Given the description of an element on the screen output the (x, y) to click on. 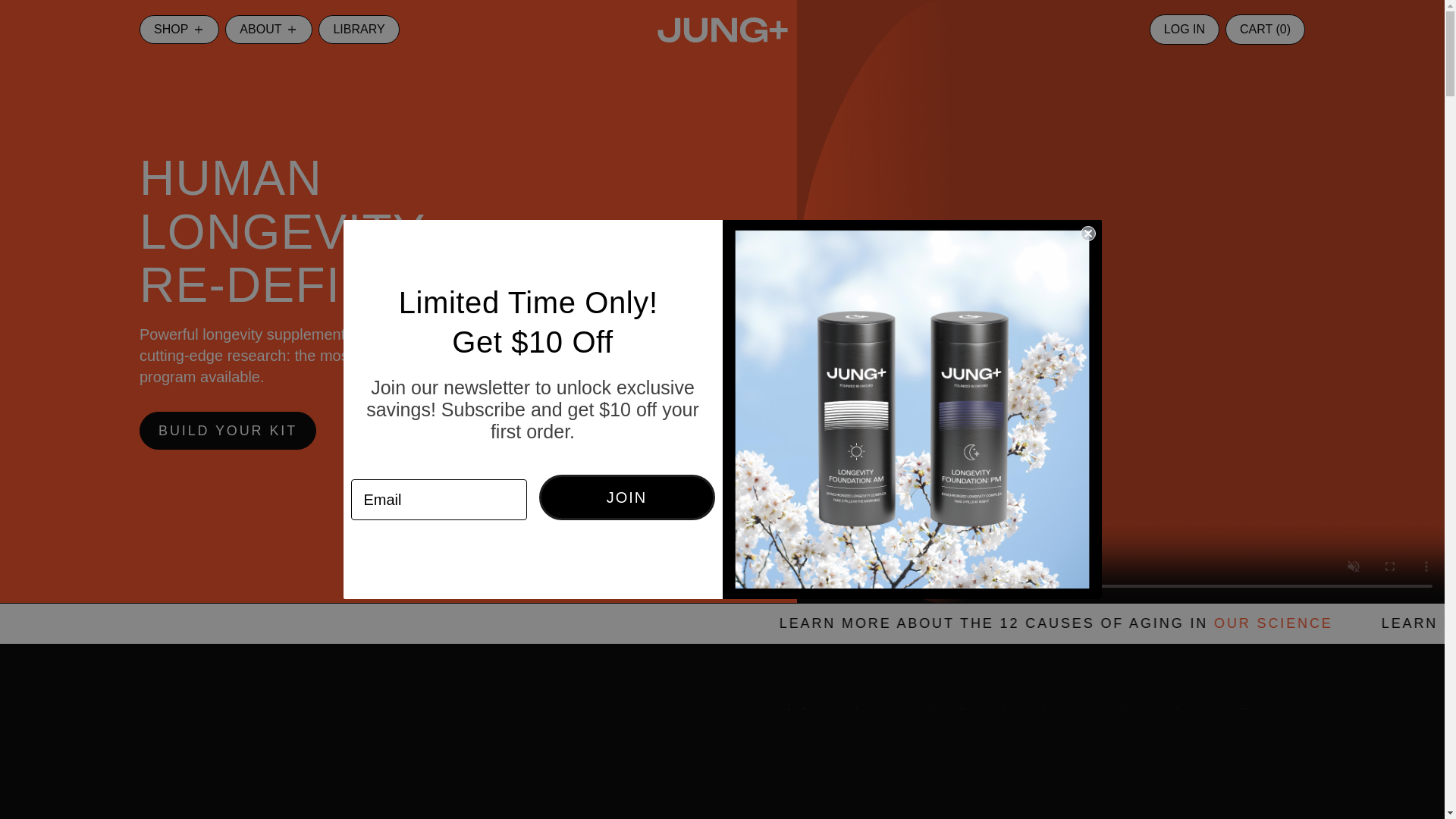
Close dialog 1 (1087, 233)
Skip to content (45, 17)
